Given the description of an element on the screen output the (x, y) to click on. 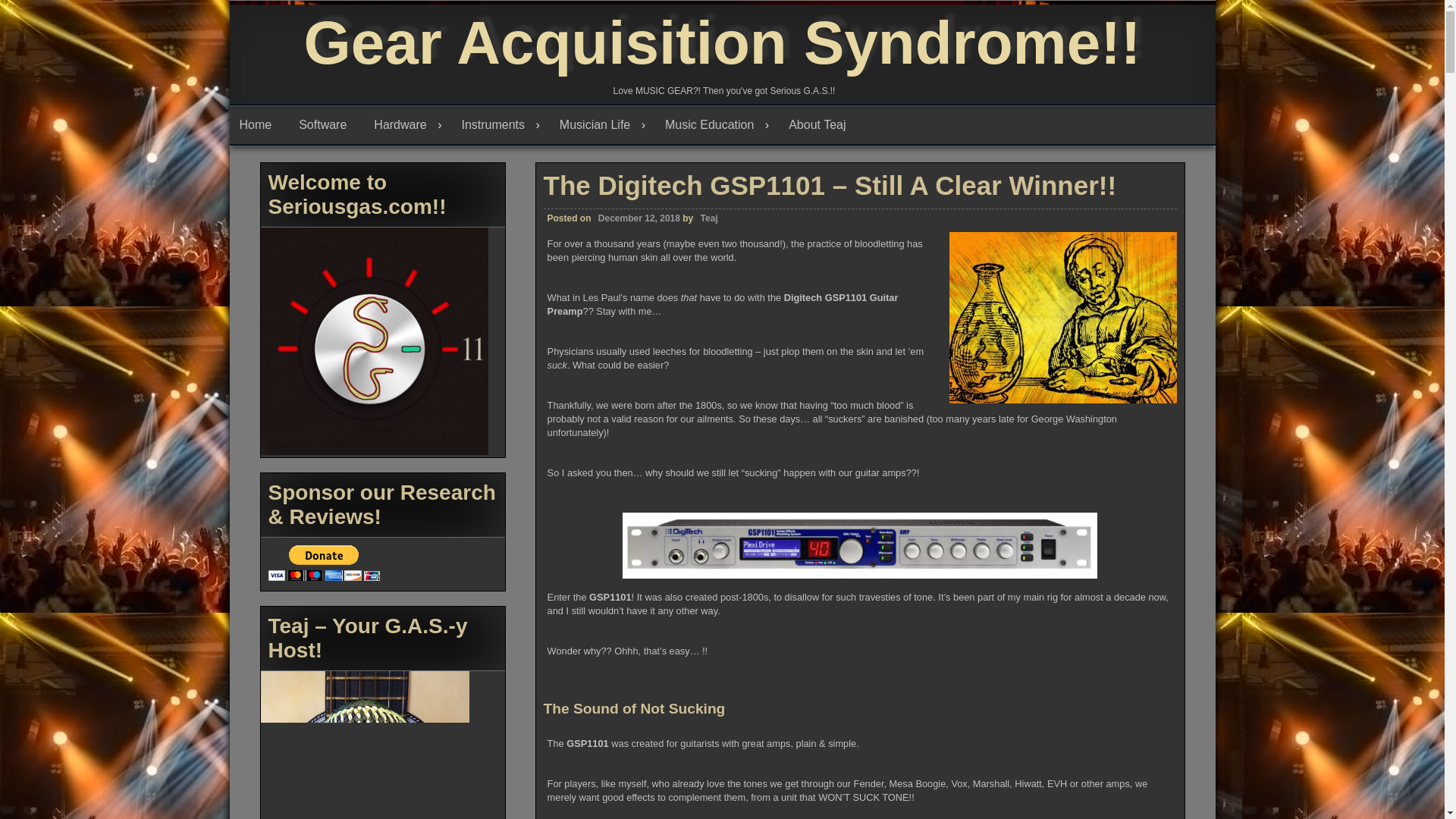
Musician Life (602, 125)
Teaj (708, 217)
About Teaj (820, 125)
Software (326, 125)
PayPal - The safer, easier way to pay online! (323, 562)
Hardware (407, 125)
Instruments (499, 125)
Music Education (716, 125)
Gear Acquisition Syndrome!! (722, 42)
December 12, 2018 (636, 218)
Home (258, 125)
